Given the description of an element on the screen output the (x, y) to click on. 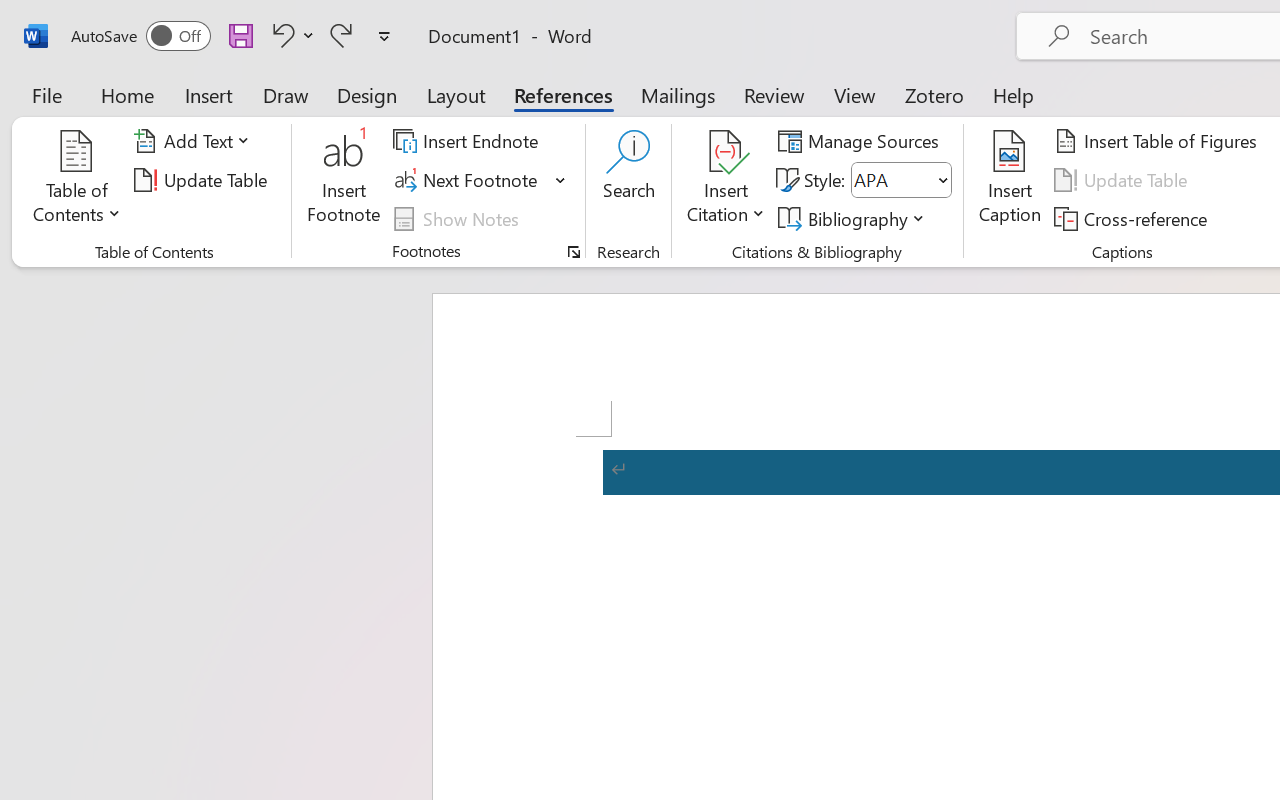
Bibliography (854, 218)
Add Text (195, 141)
Undo Apply Quick Style Set (290, 35)
Footnote and Endnote Dialog... (573, 252)
Style (892, 179)
Update Table... (204, 179)
Next Footnote (479, 179)
Undo Apply Quick Style Set (280, 35)
